Given the description of an element on the screen output the (x, y) to click on. 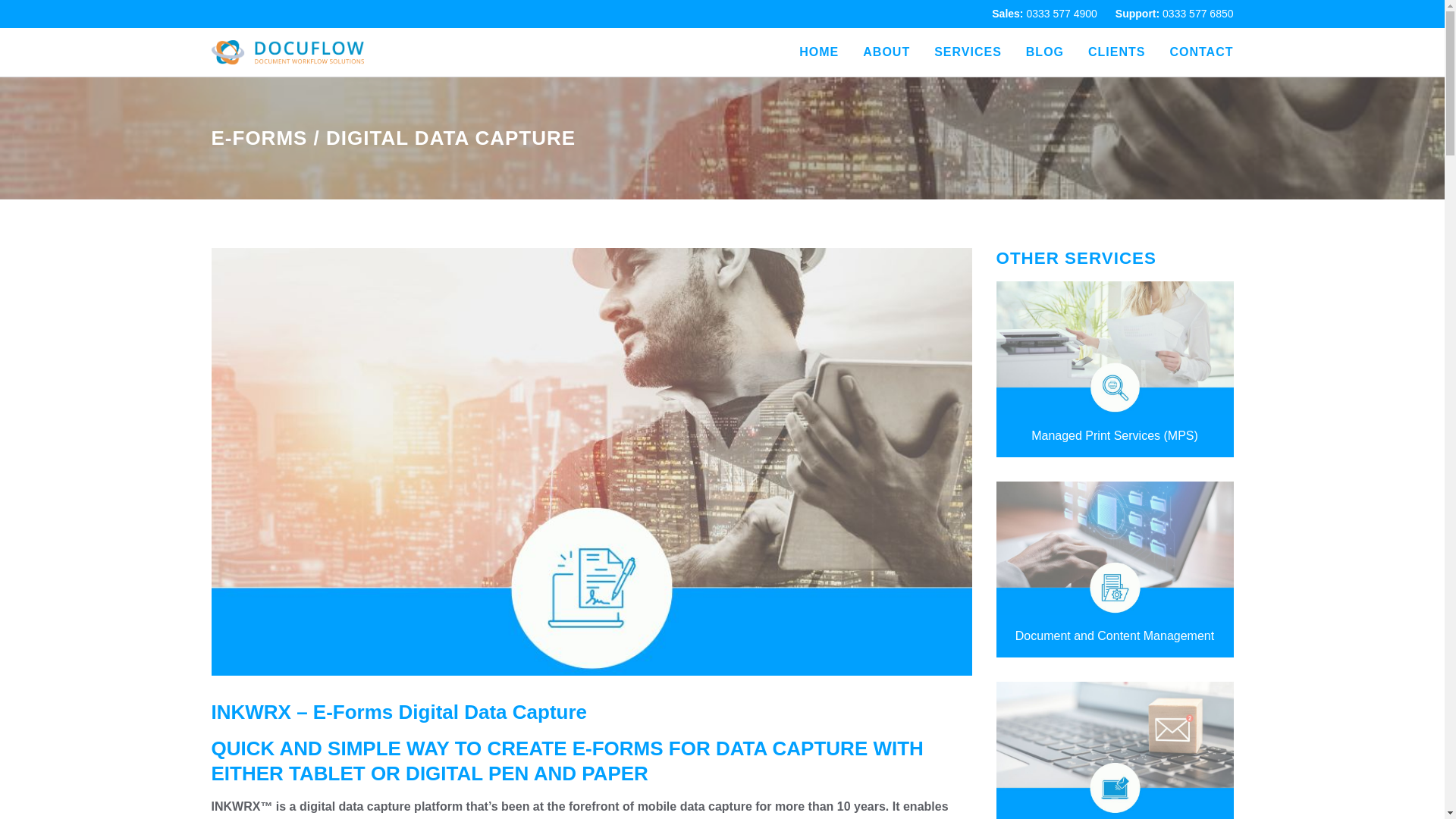
Document and Content Management (1114, 569)
HOME (818, 52)
BLOG (1045, 52)
CLIENTS (1115, 52)
0333 577 6850 (1197, 13)
SERVICES (967, 52)
Postal Solutions (1114, 750)
CONTACT (1201, 52)
0333 577 4900 (1061, 13)
ABOUT (886, 52)
